Given the description of an element on the screen output the (x, y) to click on. 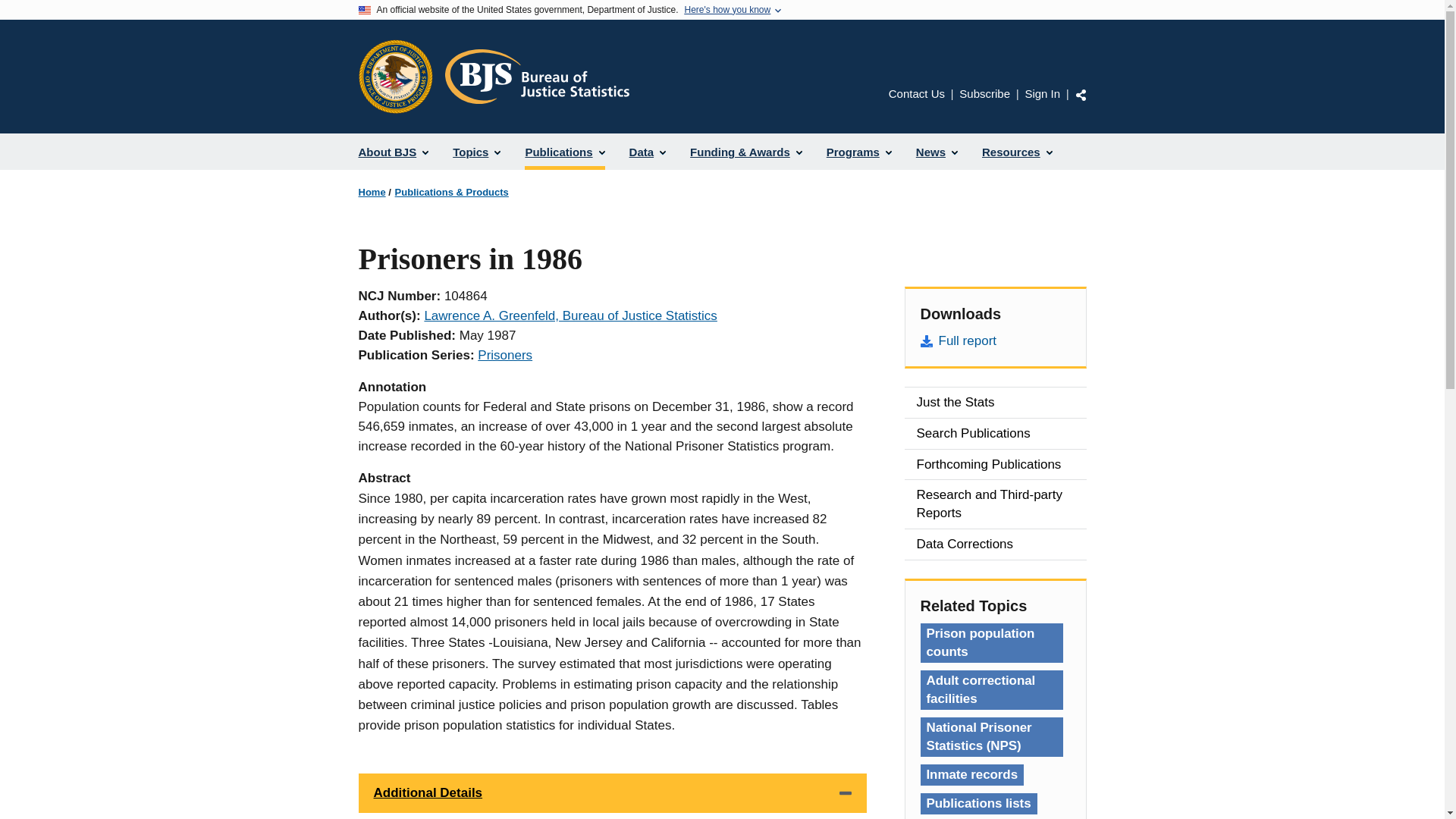
Here's how you know (727, 9)
Adult correctional facilities (991, 690)
Prisoners (504, 355)
Full report (995, 341)
Choose a social sharing platform (1080, 94)
Forthcoming Publications (995, 464)
Additional Details (612, 793)
Inmate records (971, 774)
Research and Third-party Reports (995, 503)
Search Publications (995, 433)
